Given the description of an element on the screen output the (x, y) to click on. 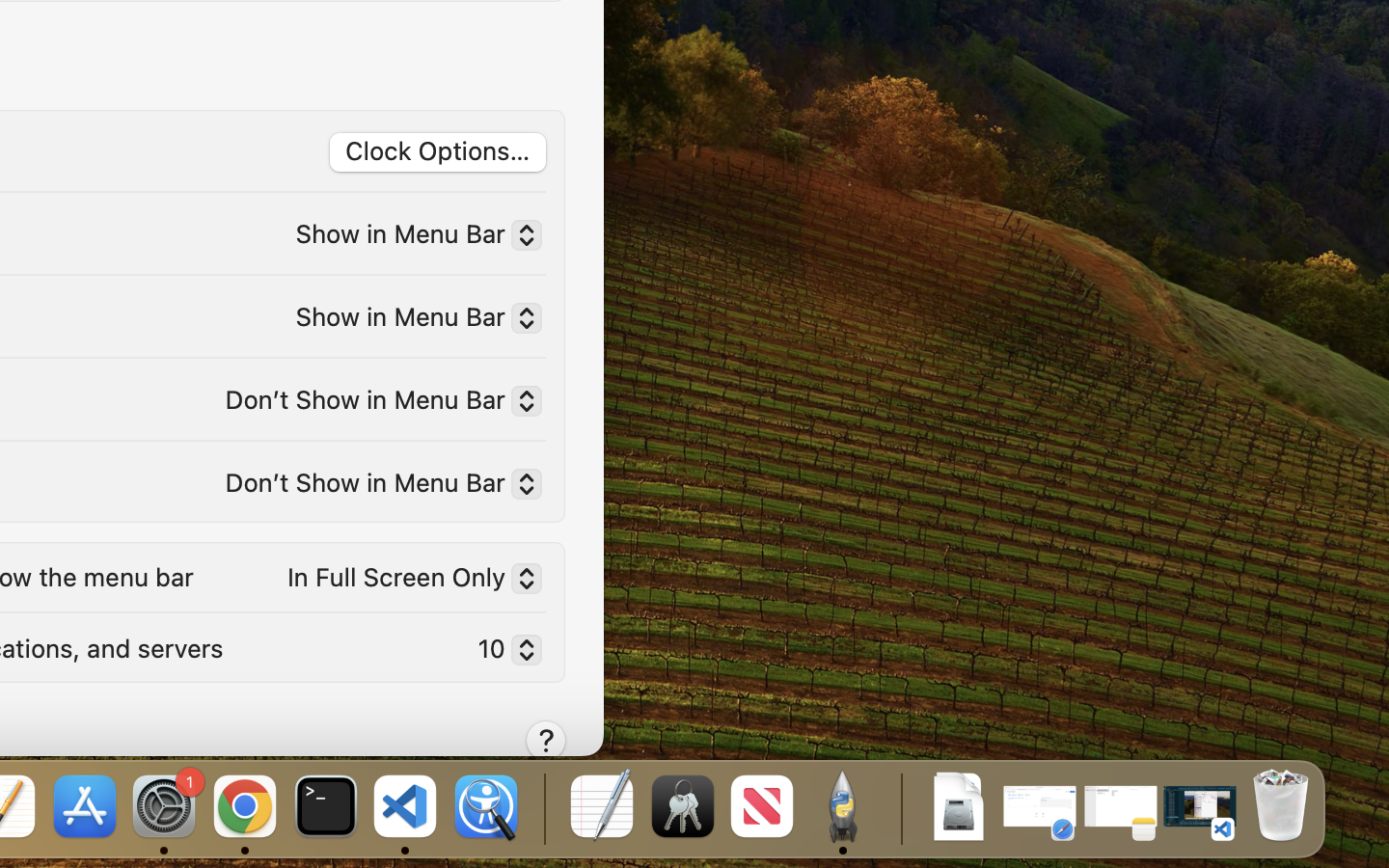
0.4285714328289032 Element type: AXDockItem (541, 807)
In Full Screen Only Element type: AXPopUpButton (406, 581)
Show in Menu Bar Element type: AXPopUpButton (410, 238)
10 Element type: AXPopUpButton (501, 652)
Don’t Show in Menu Bar Element type: AXPopUpButton (374, 403)
